Given the description of an element on the screen output the (x, y) to click on. 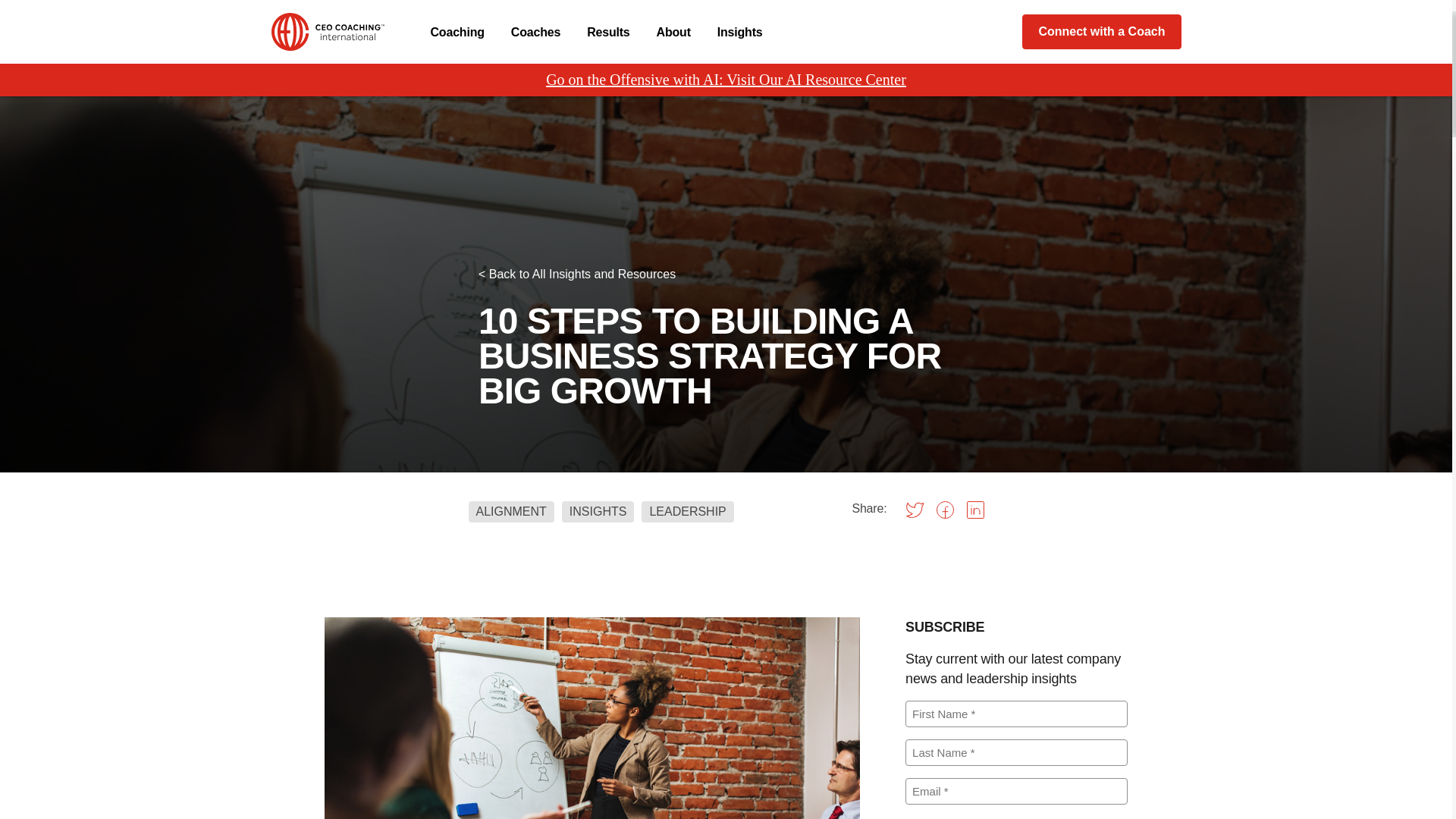
Connect with a Coach (1101, 31)
Coaching (457, 31)
INSIGHTS (598, 511)
Insights (739, 31)
Connect with a Coach (1101, 31)
About (673, 31)
Go on the Offensive with AI: Visit Our AI Resource Center (725, 79)
Go on the Offensive with AI: Visit Our AI Resource Center (725, 79)
ALIGNMENT (511, 511)
LEADERSHIP (687, 511)
